Given the description of an element on the screen output the (x, y) to click on. 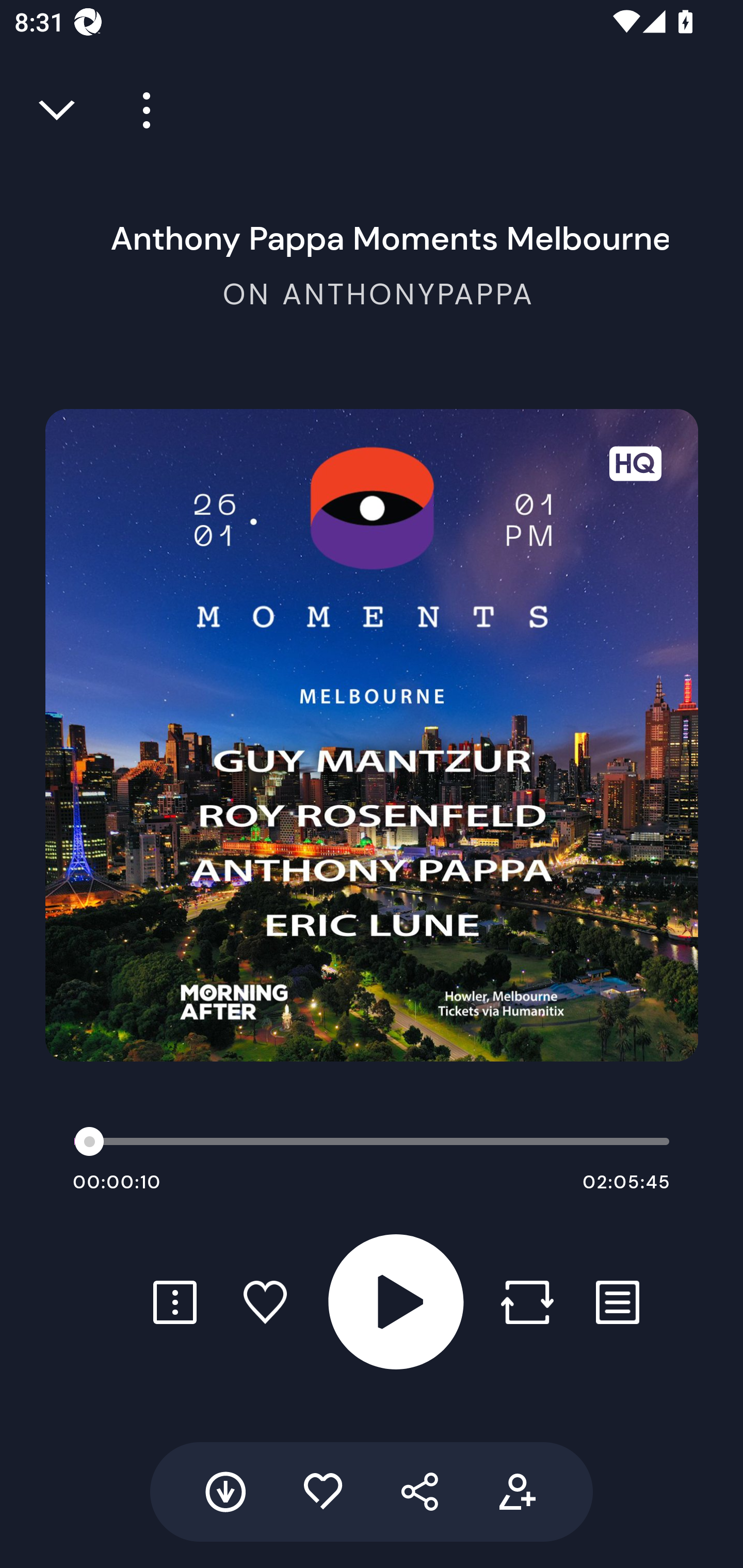
Close full player (58, 110)
Player more options button (139, 110)
Repost button (527, 1301)
